Given the description of an element on the screen output the (x, y) to click on. 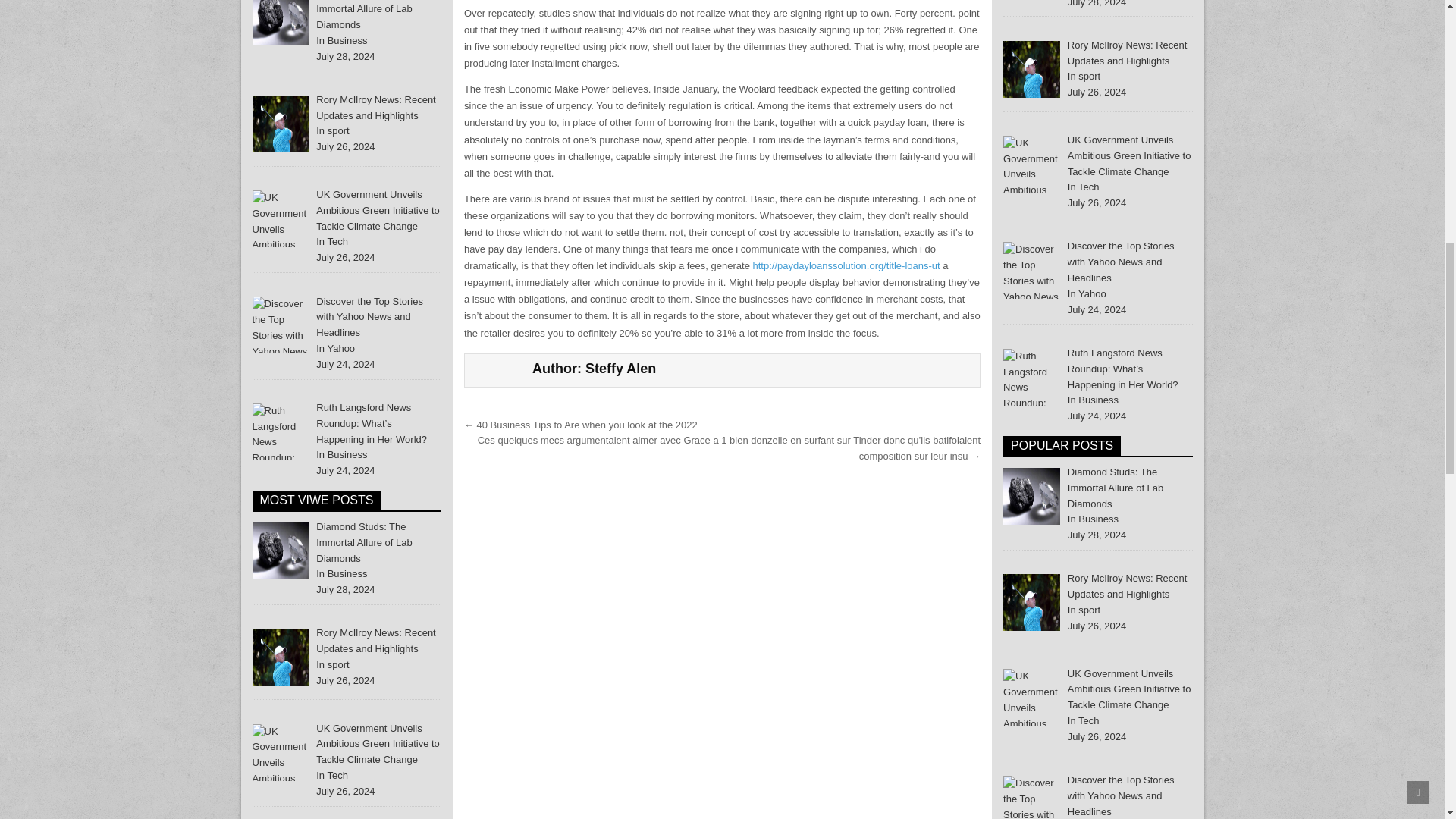
Rory McIlroy News: Recent Updates and Highlights (279, 656)
Diamond Studs: The Immortal Allure of Lab Diamonds (363, 542)
Rory McIlroy News: Recent Updates and Highlights (279, 123)
Rory McIlroy News: Recent Updates and Highlights (375, 107)
Discover the Top Stories with Yahoo News and Headlines (369, 317)
lab diamonds (279, 550)
Rory McIlroy News: Recent Updates and Highlights (375, 640)
Diamond Studs: The Immortal Allure of Lab Diamonds (363, 15)
Discover the Top Stories with Yahoo News and Headlines (279, 324)
lab diamonds (279, 22)
